Given the description of an element on the screen output the (x, y) to click on. 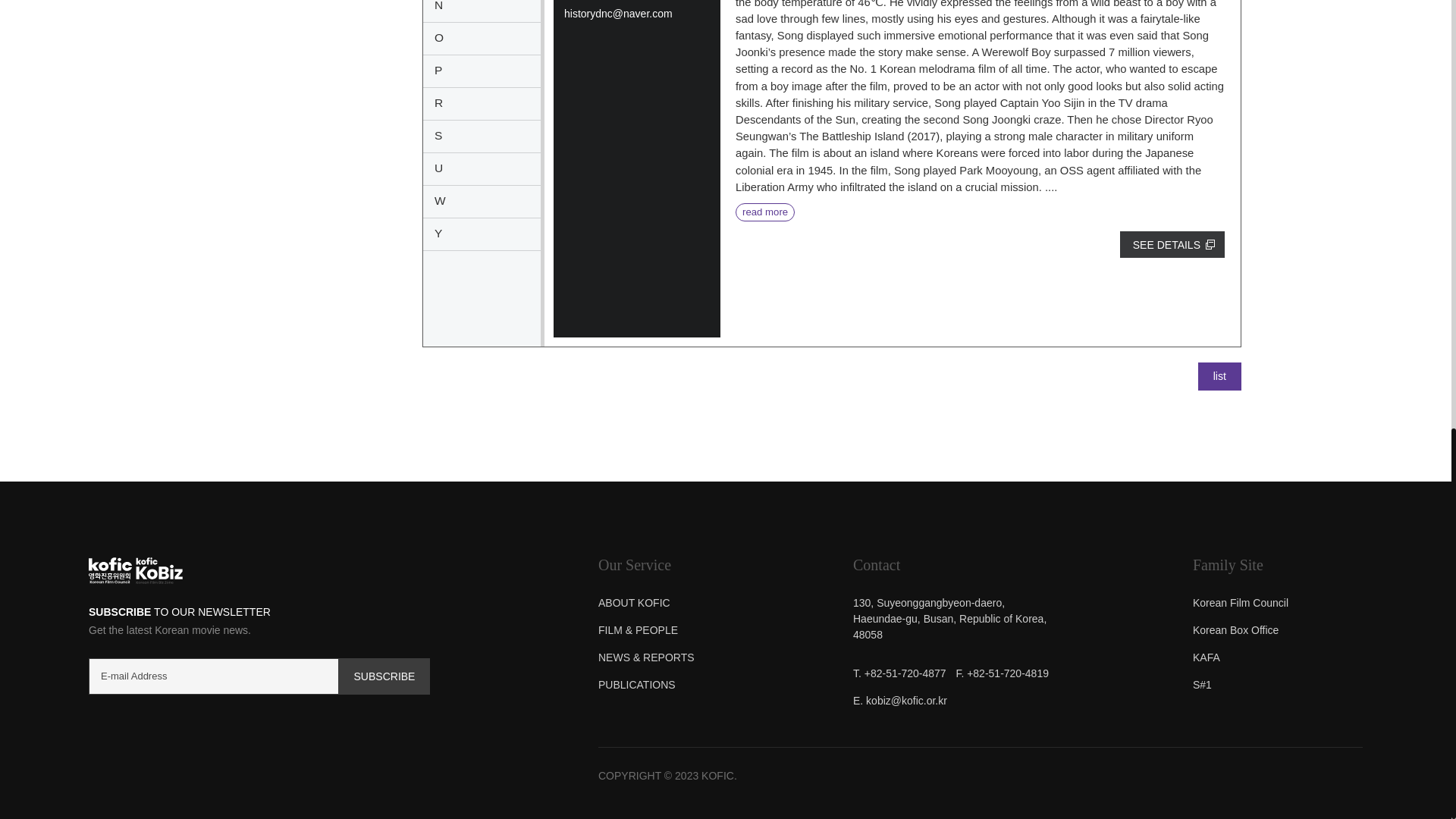
SEE DETAILS (1171, 243)
list (1219, 376)
